Given the description of an element on the screen output the (x, y) to click on. 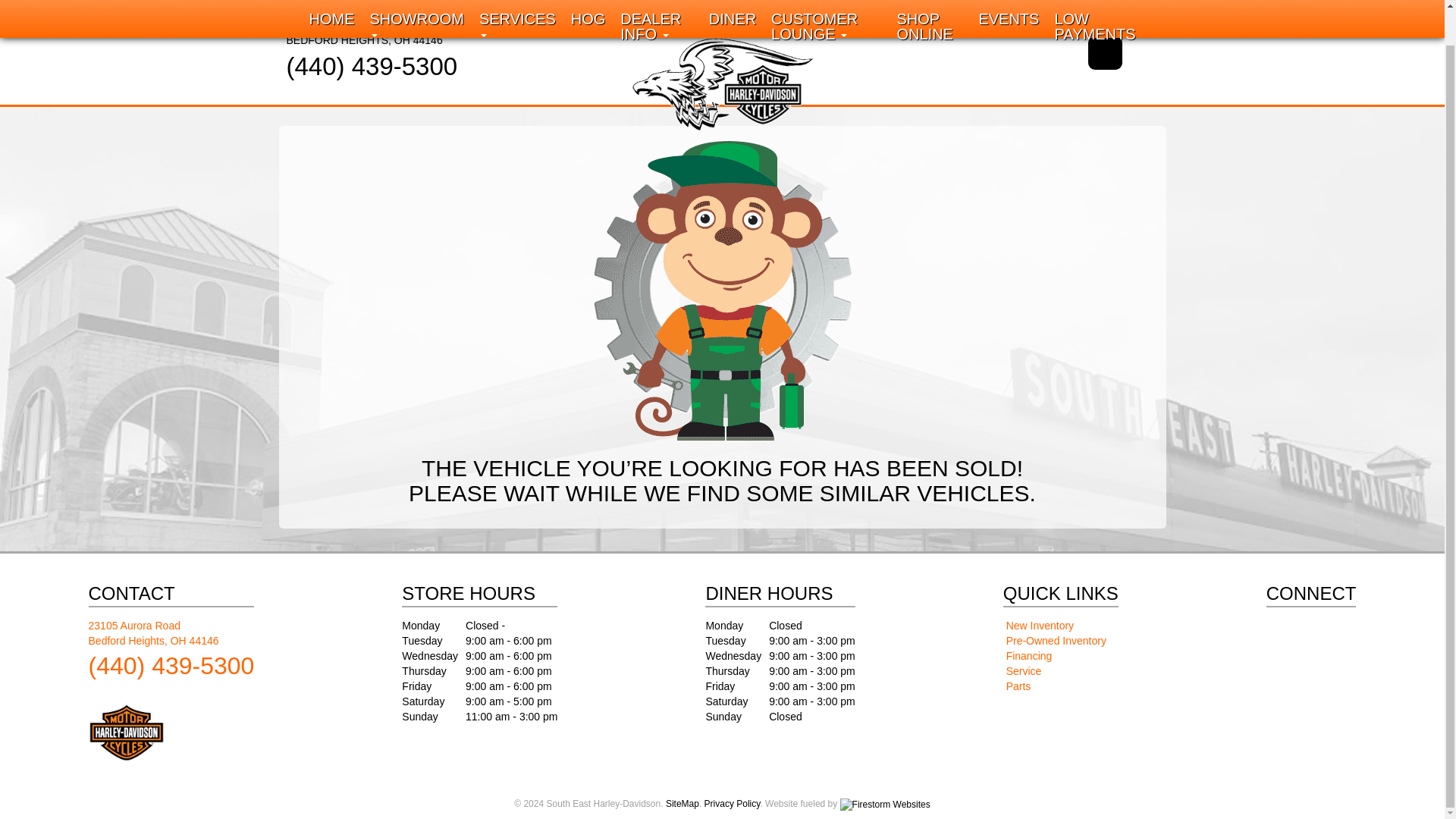
HOG (587, 0)
HOG (587, 0)
Showroom (416, 8)
SHOWROOM (416, 8)
HOME (331, 0)
SHOP ONLINE (364, 31)
CUSTOMER LOUNGE (929, 8)
Services (825, 8)
Home (517, 8)
LOW PAYMENTS (331, 0)
DINER (1094, 8)
Dealer Info (731, 0)
SERVICES (656, 8)
EVENTS (517, 8)
